Given the description of an element on the screen output the (x, y) to click on. 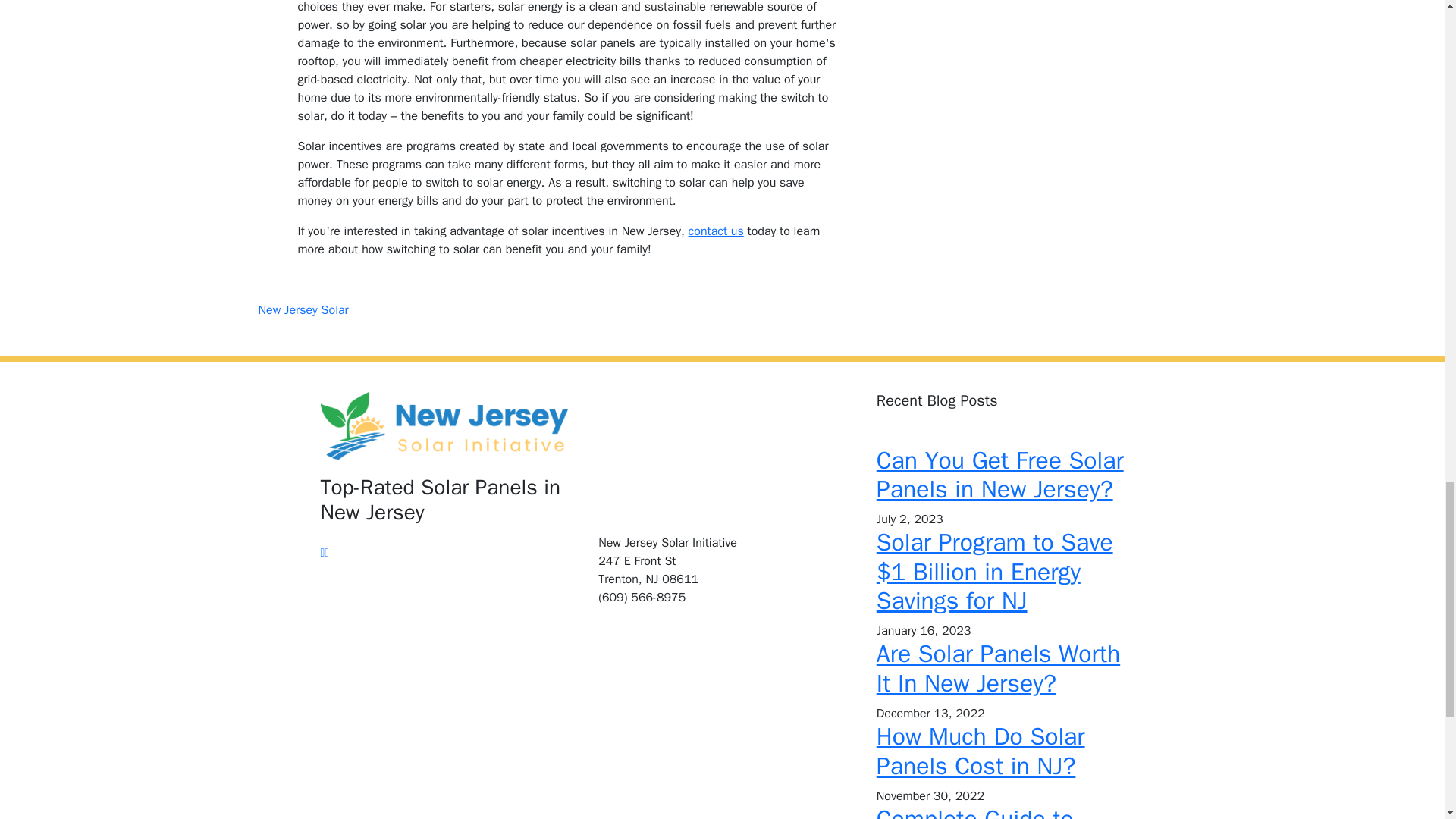
Are Solar Panels Worth It In New Jersey? (997, 668)
contact us (716, 230)
Can You Get Free Solar Panels in New Jersey? (1000, 474)
How Much Do Solar Panels Cost in NJ? (980, 751)
New Jersey Solar (302, 309)
Complete Guide to Solar Incentives in New Jersey (1000, 811)
nj-solar-colorful-logo (443, 424)
Can You Get Free Solar Panels in New Jersey? (1000, 474)
Complete Guide to Solar Incentives in New Jersey (1000, 811)
Are Solar Panels Worth It In New Jersey? (997, 668)
